Given the description of an element on the screen output the (x, y) to click on. 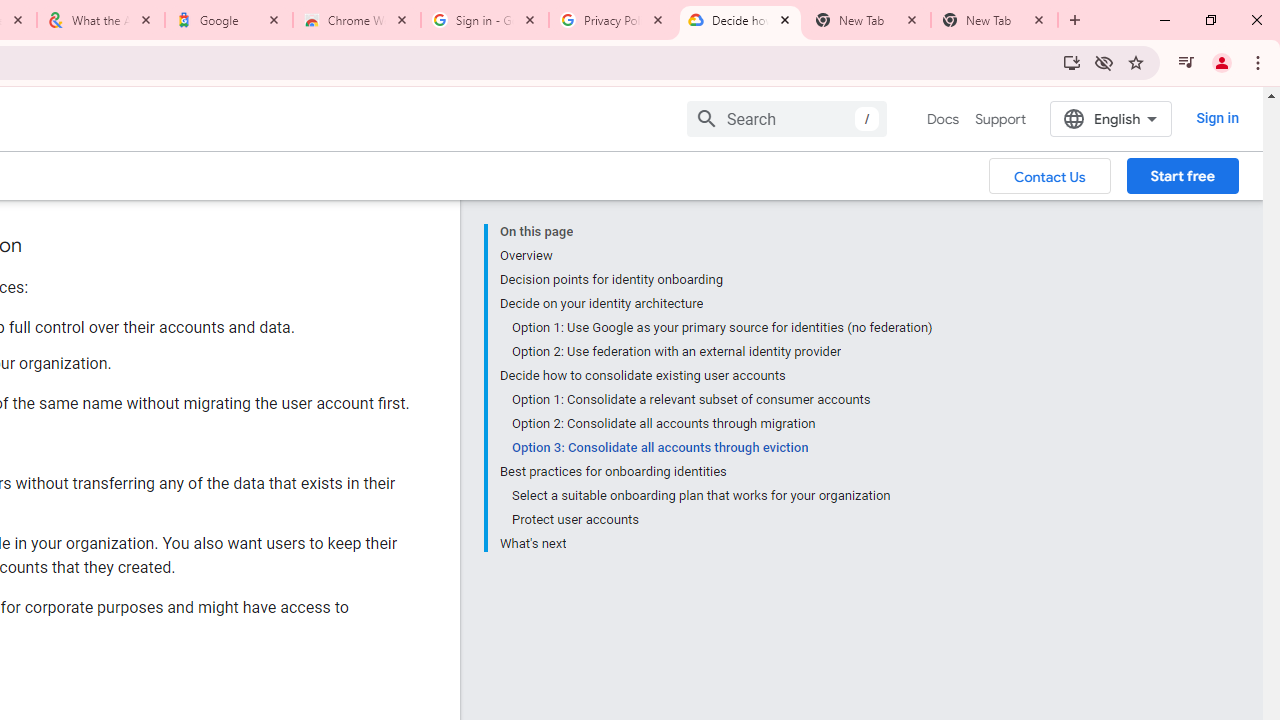
Option 1: Consolidate a relevant subset of consumer accounts (721, 399)
Chrome Web Store - Color themes by Chrome (357, 20)
Best practices for onboarding identities (716, 471)
Decide how to consolidate existing user accounts (716, 376)
Option 2: Use federation with an external identity provider (721, 351)
Contact Us (1050, 175)
Start free (1182, 175)
Decision points for identity onboarding (716, 279)
Option 2: Consolidate all accounts through migration (721, 423)
Docs, selected (942, 119)
